Given the description of an element on the screen output the (x, y) to click on. 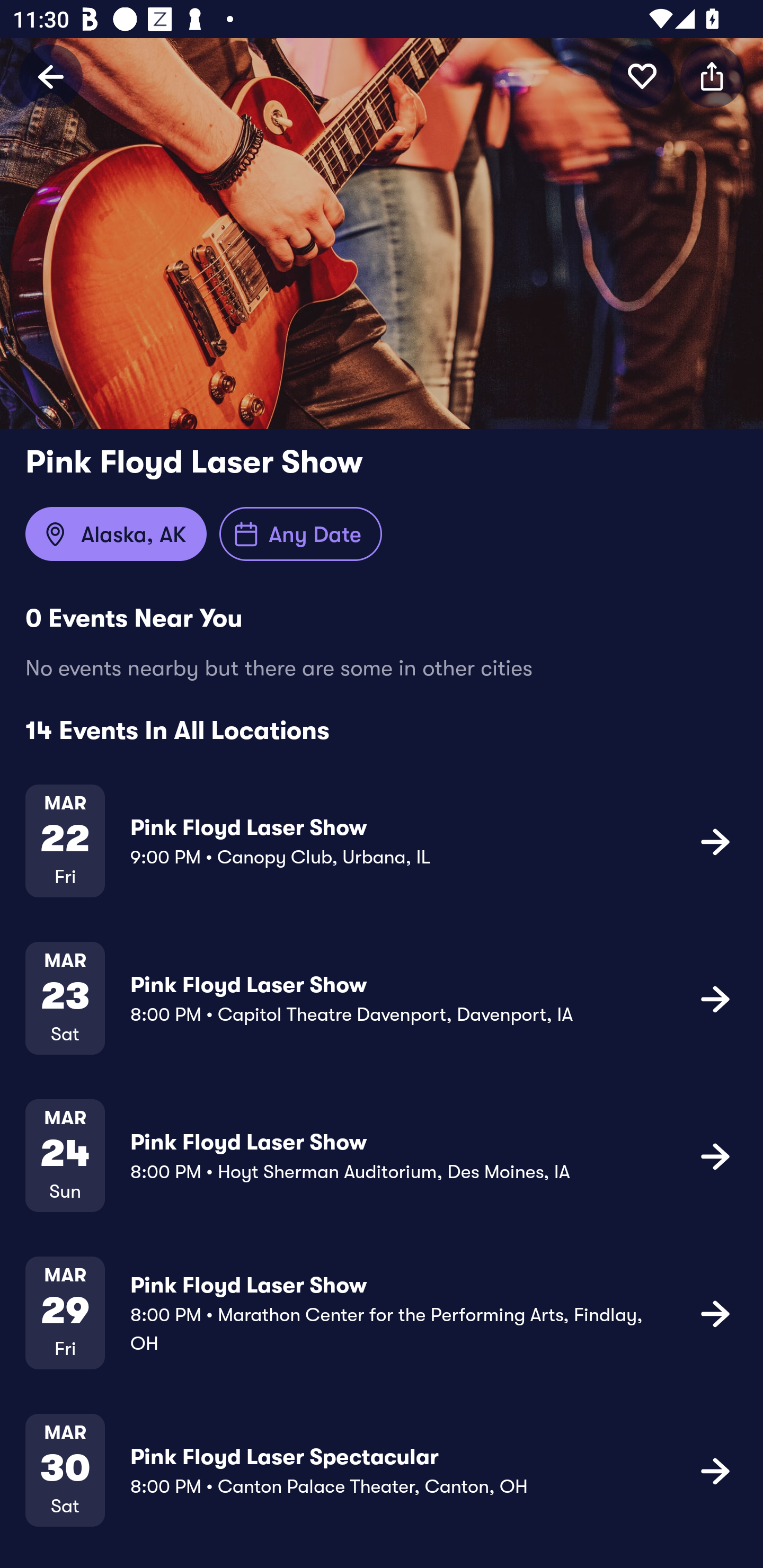
Back (50, 75)
icon button (641, 75)
icon button (711, 75)
Alaska, AK (115, 533)
Any Date (300, 533)
icon button (714, 840)
icon button (714, 998)
icon button (714, 1155)
icon button (714, 1312)
icon button (714, 1470)
